Given the description of an element on the screen output the (x, y) to click on. 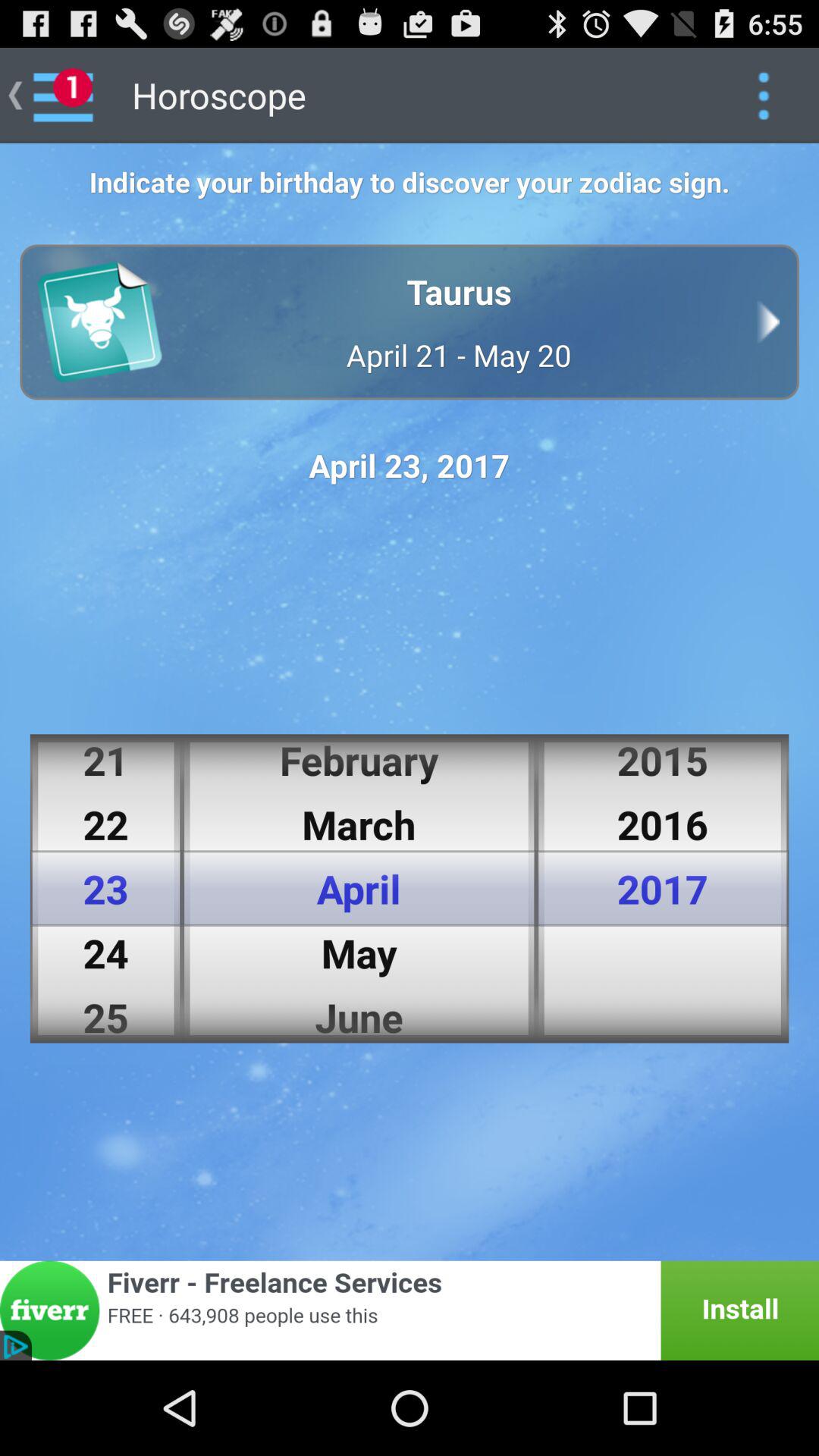
advertisement banner (409, 1310)
